Given the description of an element on the screen output the (x, y) to click on. 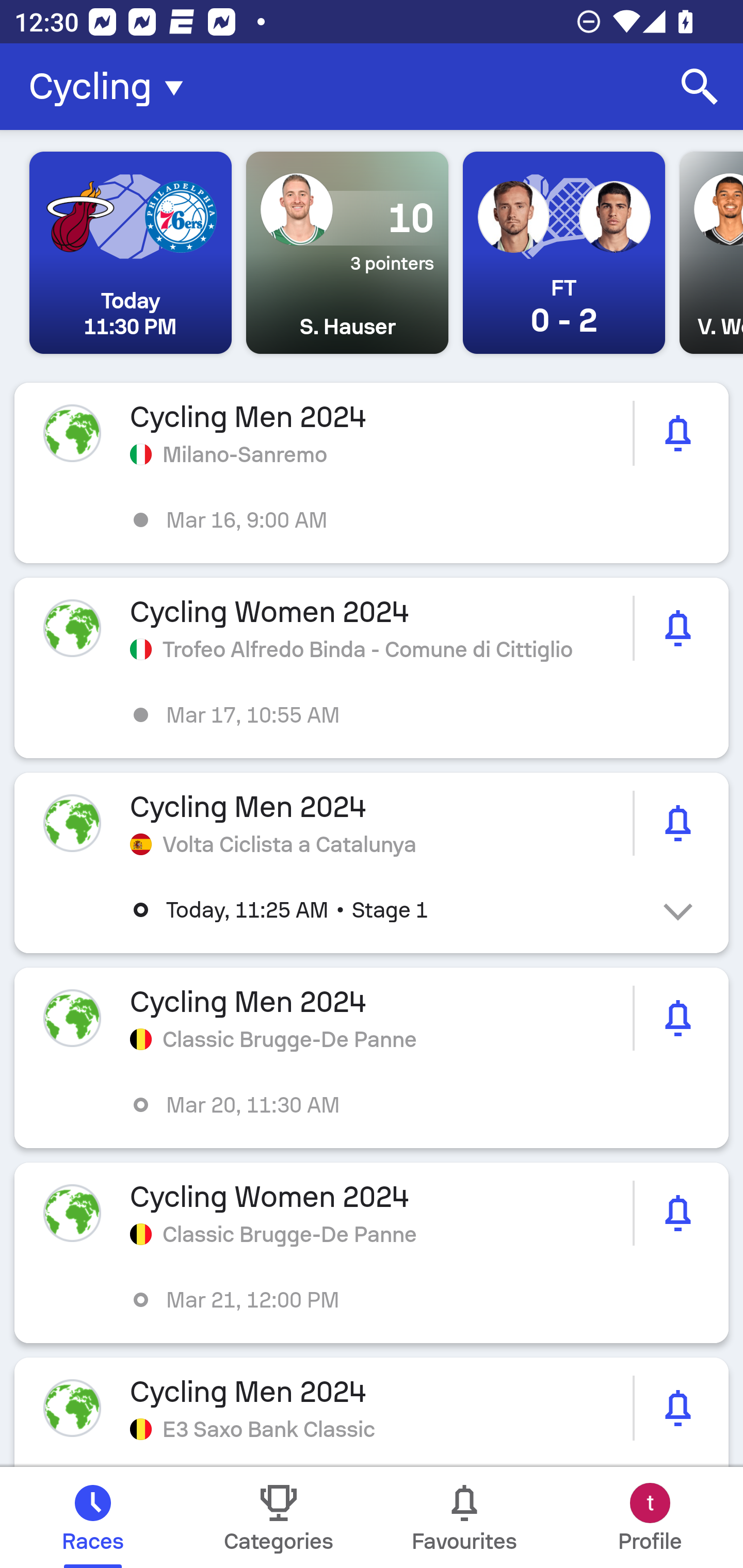
Cycling (111, 86)
Search (699, 86)
Today
11:30 PM (130, 253)
FT 0 - 2 (563, 253)
Today, 11:25 AM • Stage 1 (385, 910)
Cycling Men 2024 E3 Saxo Bank Classic picture (371, 1412)
Categories (278, 1517)
Favourites (464, 1517)
Profile (650, 1517)
